Given the description of an element on the screen output the (x, y) to click on. 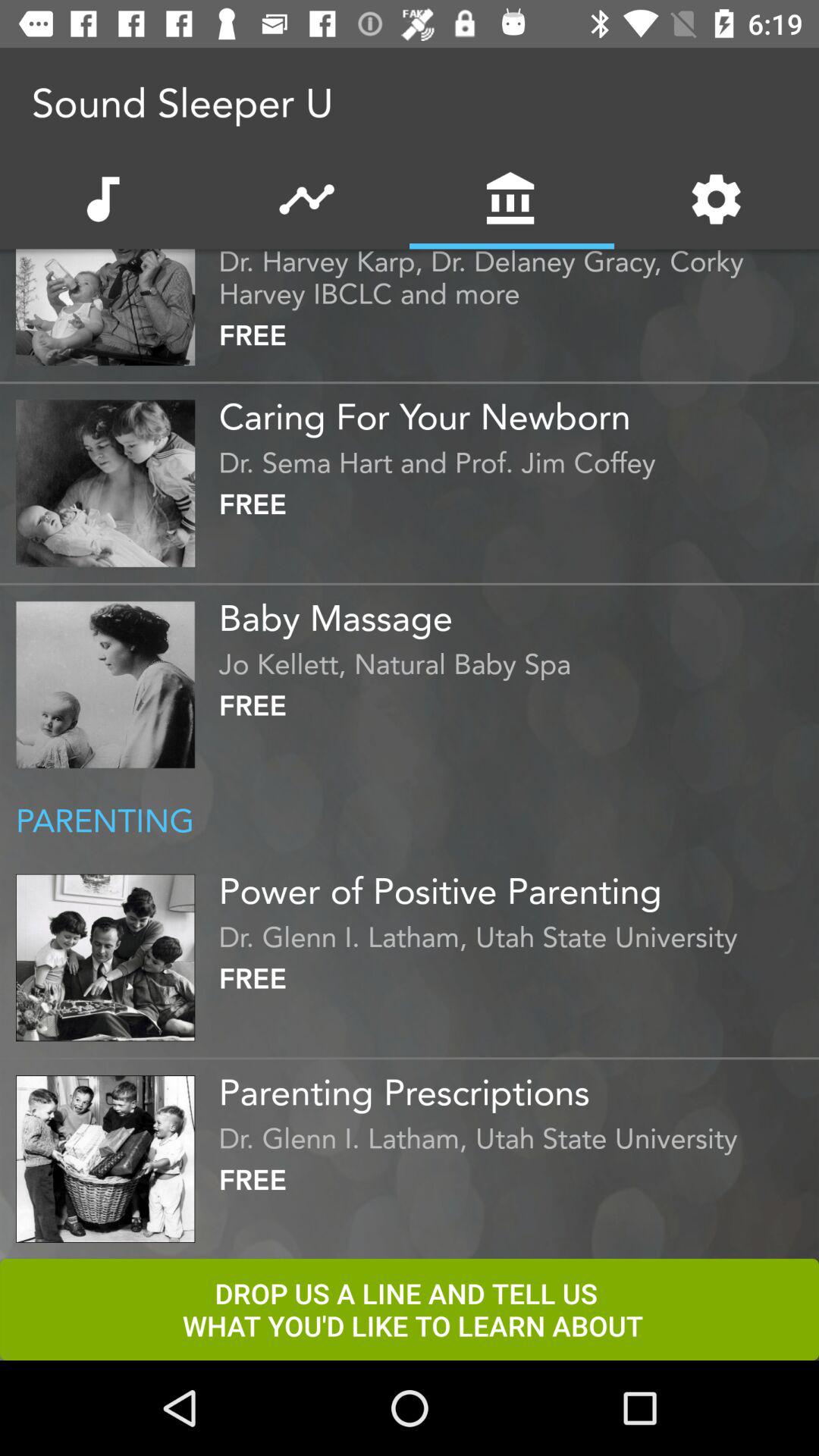
open the jo kellett natural icon (515, 659)
